Given the description of an element on the screen output the (x, y) to click on. 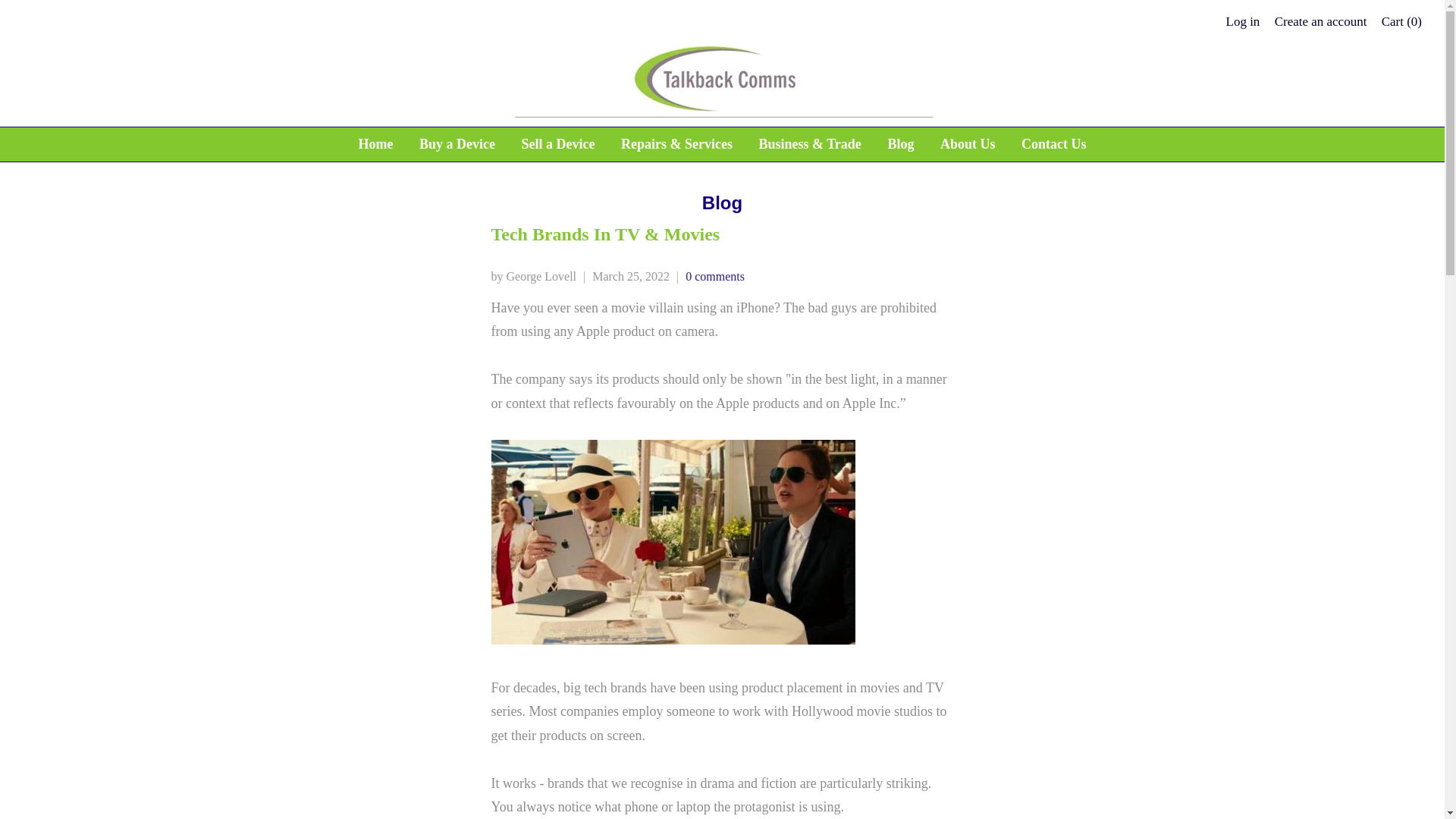
0 comments (714, 276)
About Us (967, 144)
Log in (1242, 21)
Contact Us (1053, 144)
Blog (721, 202)
Blog (900, 144)
Buy a Device (456, 144)
Sell a Device (559, 144)
Create an account (1321, 21)
Home (375, 144)
